Given the description of an element on the screen output the (x, y) to click on. 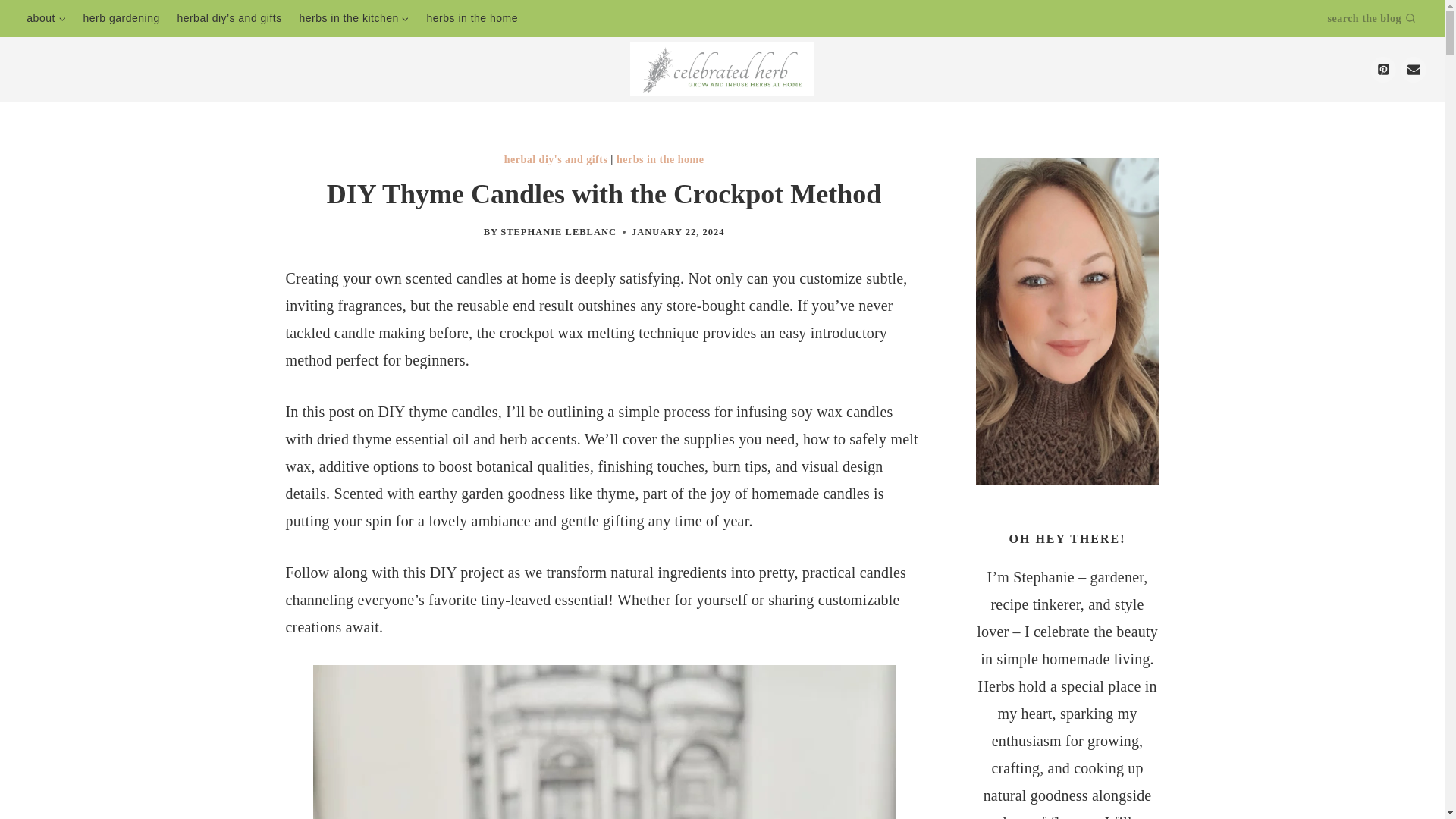
STEPHANIE LEBLANC (557, 231)
search the blog (1376, 18)
herb gardening (121, 17)
about (45, 17)
herbs in the kitchen (353, 17)
herbs in the home (471, 17)
herbal diy's and gifts (555, 159)
herbs in the home (659, 159)
